Given the description of an element on the screen output the (x, y) to click on. 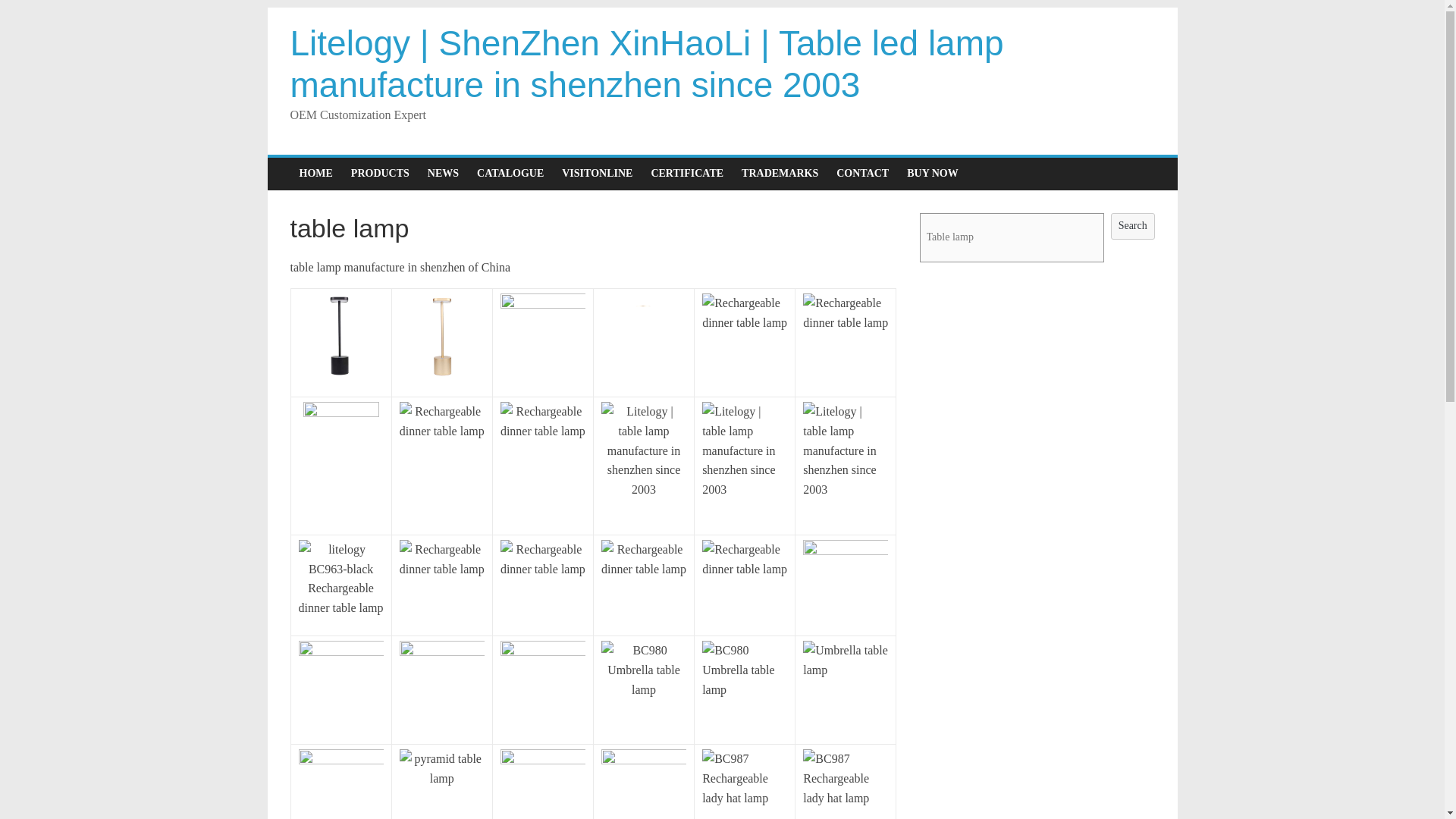
NEWS (443, 173)
Search (1132, 225)
CONTACT (862, 173)
TRADEMARKS (779, 173)
PRODUCTS (380, 173)
CATALOGUE (510, 173)
CERTIFICATE (687, 173)
HOME (314, 173)
VISITONLINE (597, 173)
BUY NOW (933, 173)
